Given the description of an element on the screen output the (x, y) to click on. 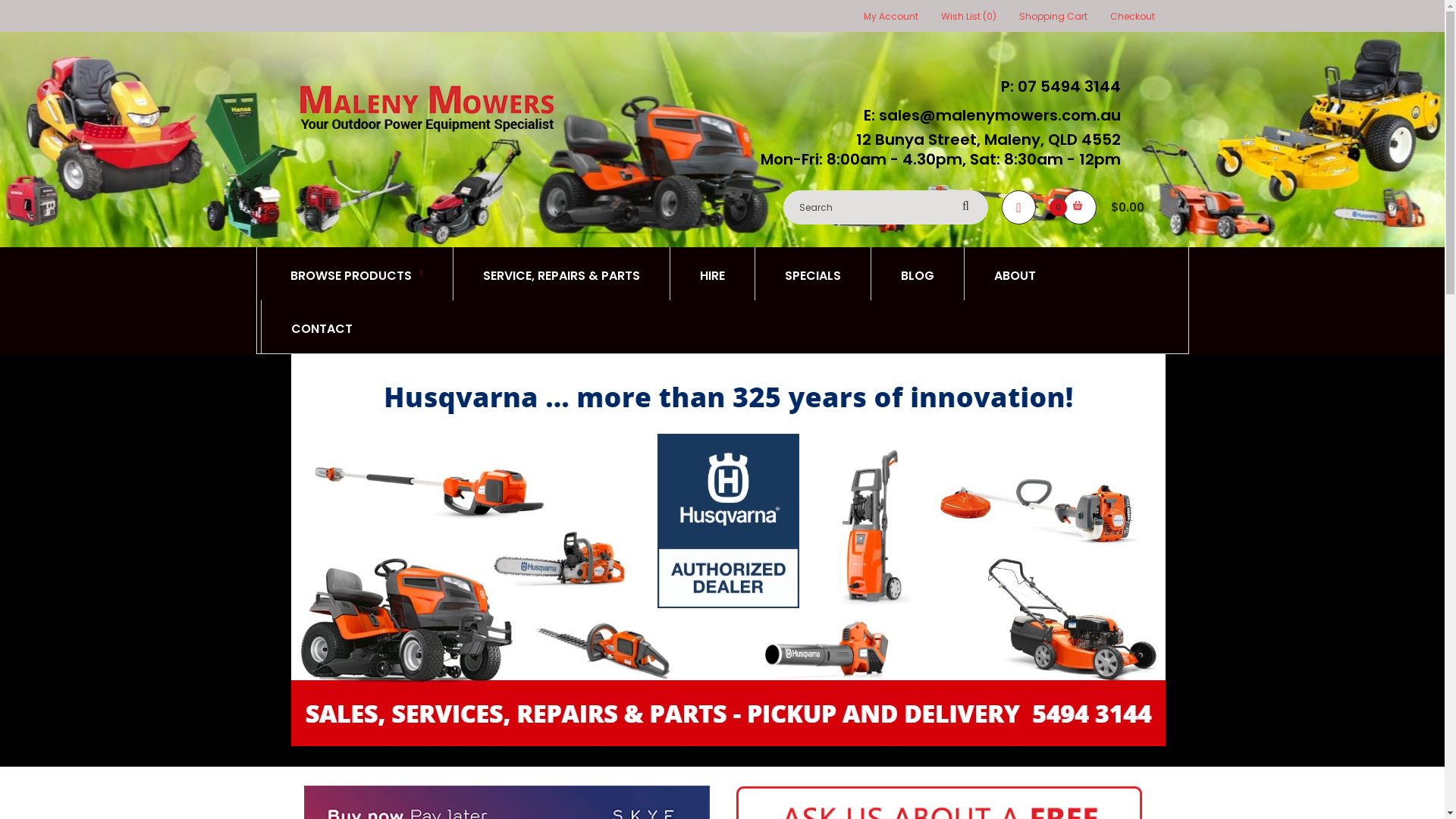
P: 07 5494 3144 Element type: text (1056, 86)
BLOG Element type: text (917, 273)
SERVICE, REPAIRS & PARTS Element type: text (561, 273)
Shopping Cart Element type: text (1053, 15)
HIRE Element type: text (712, 273)
Wish List (0) Element type: text (967, 15)
ABOUT Element type: text (1014, 273)
E: sales@malenymowers.com.au Element type: text (987, 114)
0
$0.00 Element type: text (1108, 207)
CONTACT Element type: text (320, 326)
Maleny Mowers Element type: hover (425, 108)
My Account Element type: text (889, 15)
Checkout Element type: text (1132, 15)
SPECIALS Element type: text (812, 273)
BROWSE PRODUCTS Element type: text (356, 273)
